Given the description of an element on the screen output the (x, y) to click on. 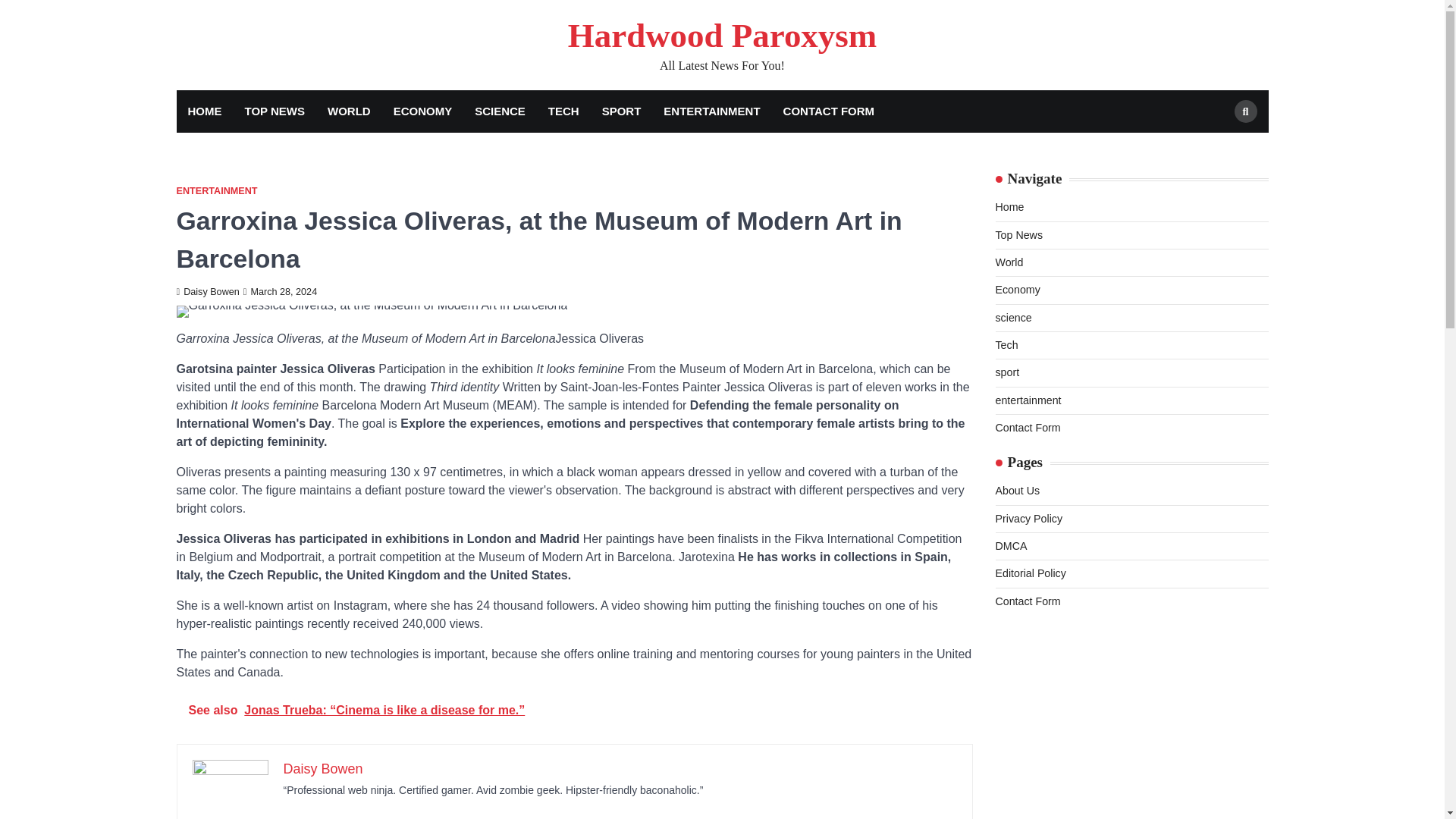
Tech (1005, 345)
ENTERTAINMENT (216, 191)
Daisy Bowen (322, 768)
TOP NEWS (273, 111)
SCIENCE (500, 111)
DMCA (1010, 545)
Daisy Bowen (207, 291)
WORLD (348, 111)
Home (1008, 206)
TECH (564, 111)
